Given the description of an element on the screen output the (x, y) to click on. 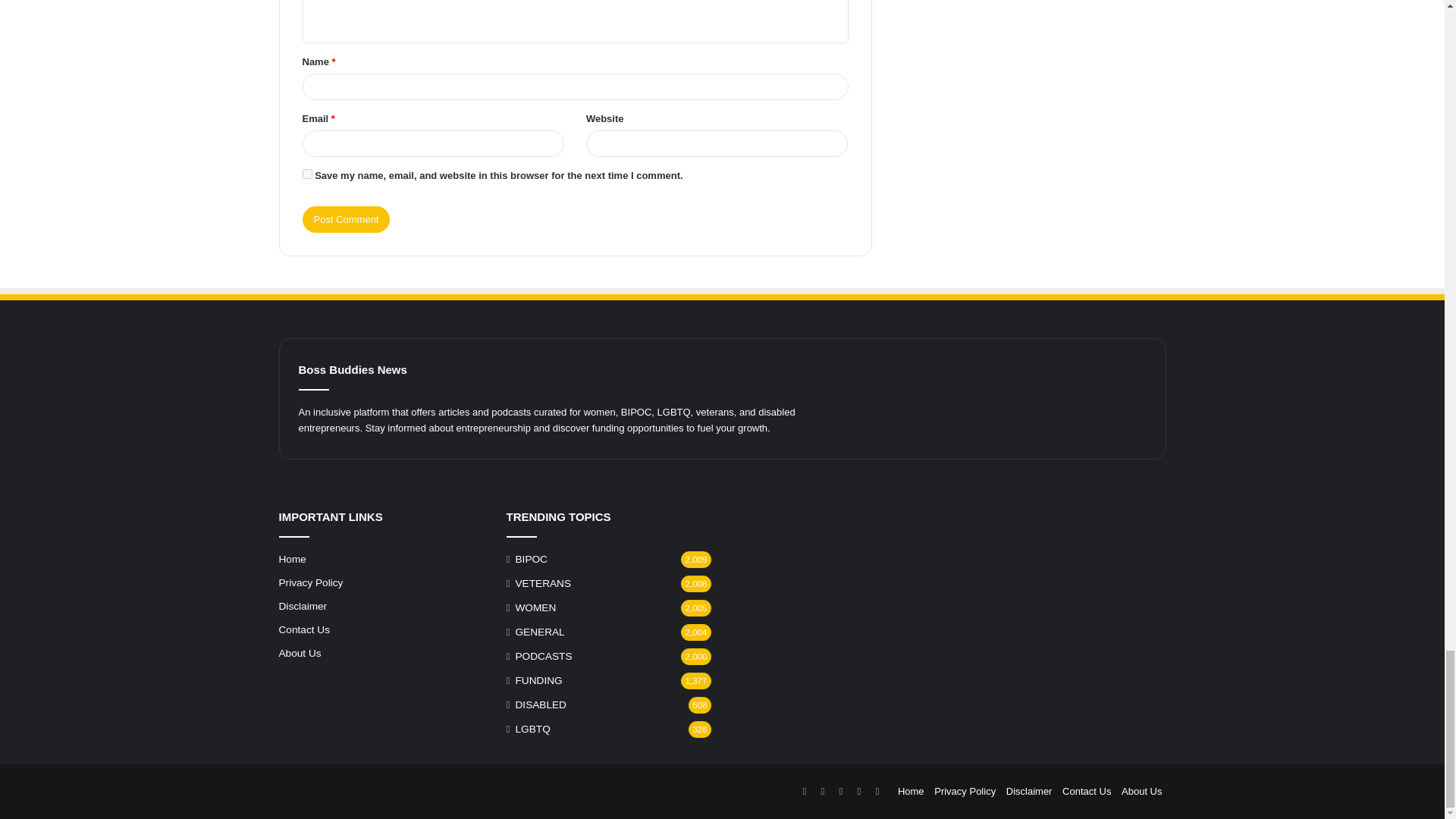
Post Comment (345, 219)
yes (306, 173)
